Given the description of an element on the screen output the (x, y) to click on. 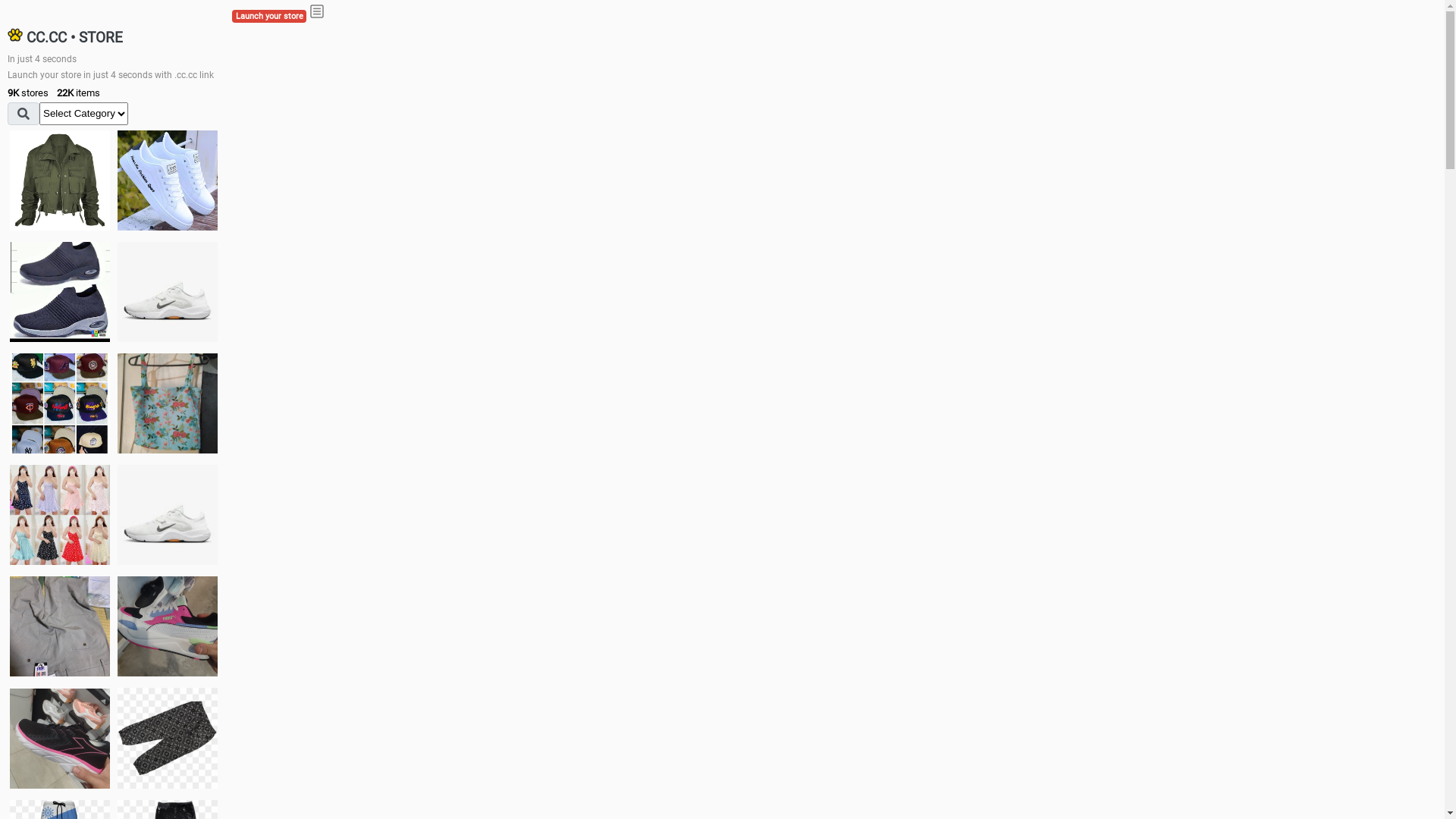
Zapatillas pumas Element type: hover (167, 626)
Ukay cloth Element type: hover (167, 403)
Dress/square nect top Element type: hover (59, 514)
jacket Element type: hover (59, 180)
white shoes Element type: hover (167, 180)
Zapatillas Element type: hover (59, 738)
Short pant Element type: hover (167, 737)
Launch your store Element type: text (269, 15)
shoes for boys Element type: hover (59, 291)
Things we need Element type: hover (59, 403)
Shoes for boys Element type: hover (167, 291)
Shoes Element type: hover (167, 514)
